Given the description of an element on the screen output the (x, y) to click on. 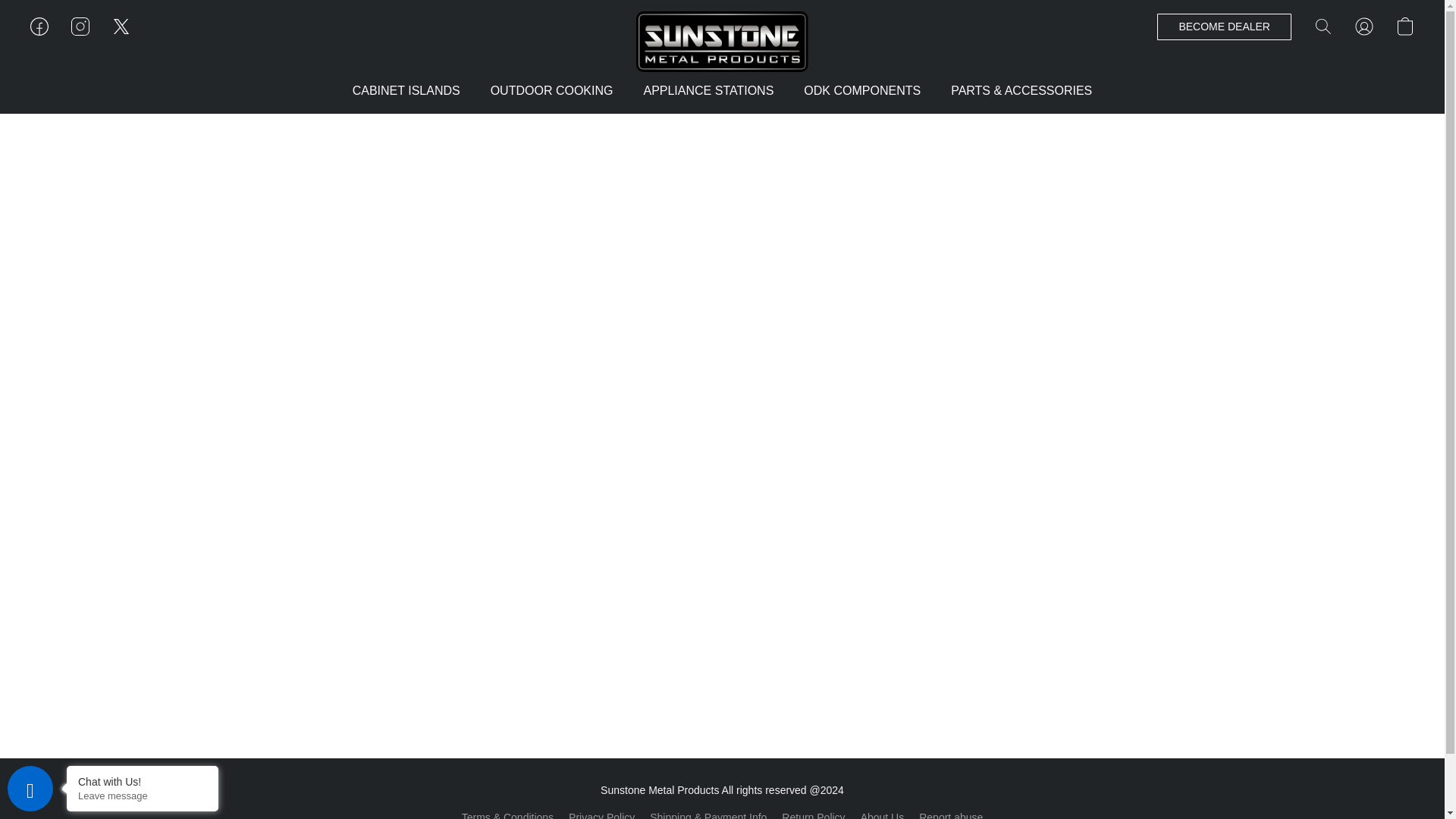
APPLIANCE STATIONS (708, 90)
Leave message (142, 795)
Go to your shopping cart (1404, 26)
Chat with Us! (142, 781)
Privacy Policy (601, 813)
Report abuse (950, 813)
BECOME DEALER (1224, 26)
OUTDOOR COOKING (552, 90)
About Us (882, 813)
CABINET ISLANDS (414, 90)
ODK COMPONENTS (862, 90)
Return Policy (812, 813)
Search the website (1323, 26)
